Given the description of an element on the screen output the (x, y) to click on. 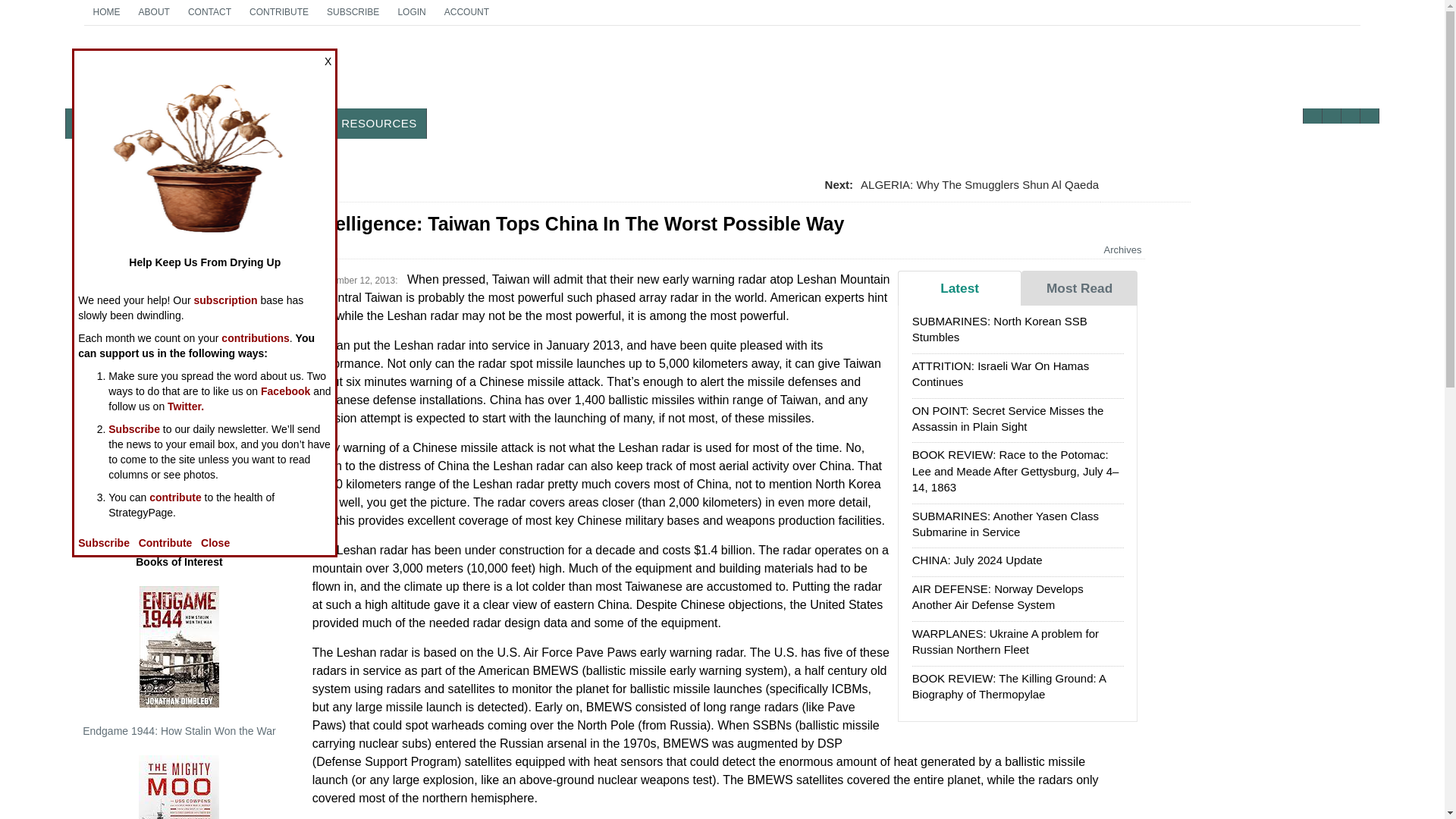
ACCOUNT (466, 12)
CONTACT (209, 12)
NEWS (92, 123)
FEATURES (161, 123)
LOGIN (410, 12)
ABOUT (154, 12)
CONTRIBUTE (278, 12)
SUBSCRIBE (352, 12)
HOME (106, 12)
RESOURCES (378, 123)
OTHER (181, 72)
PHOTOS (300, 123)
